Given the description of an element on the screen output the (x, y) to click on. 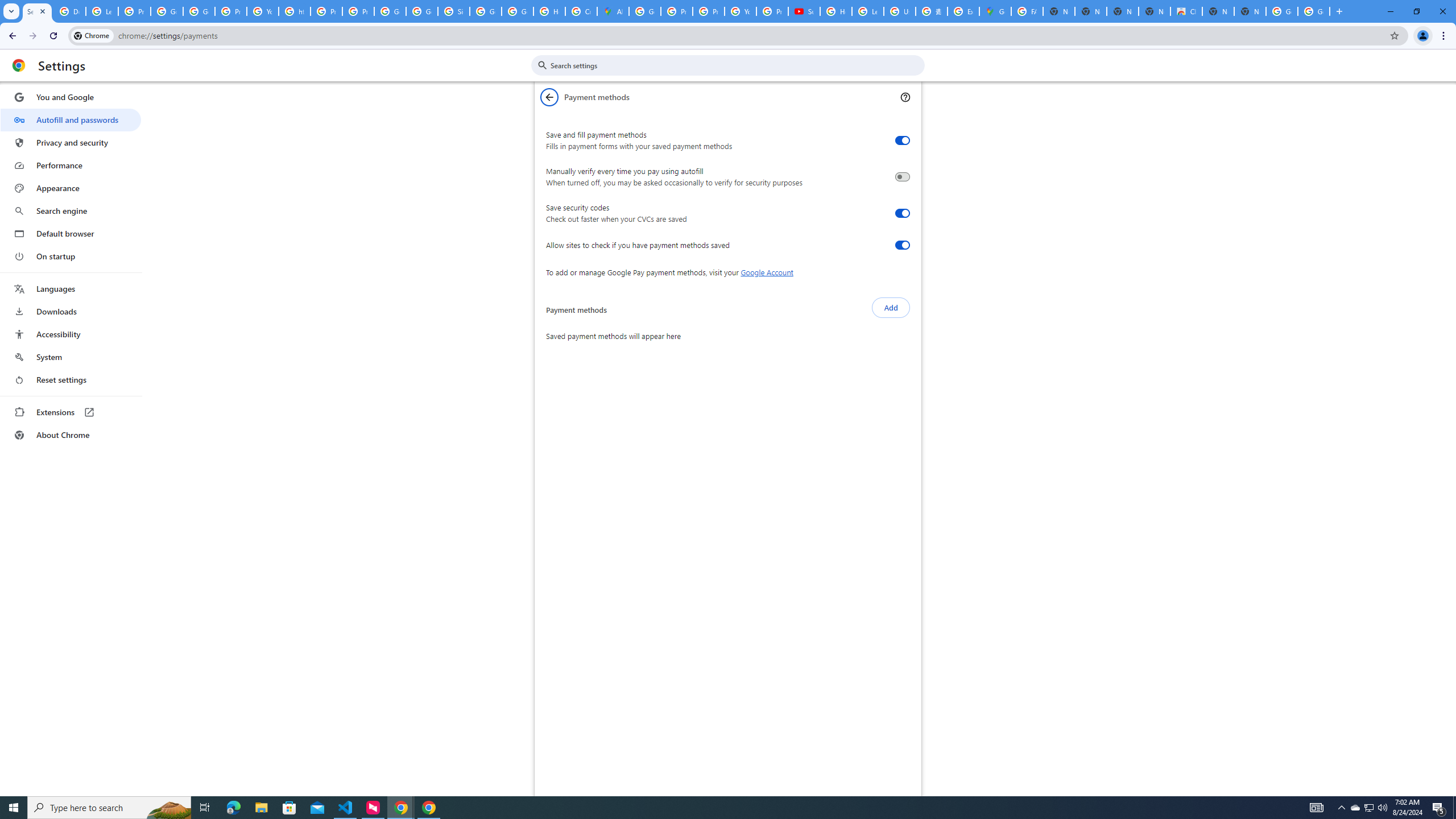
Extensions (70, 412)
Google Maps (995, 11)
Chrome Web Store (1185, 11)
Create your Google Account (581, 11)
Privacy Help Center - Policies Help (708, 11)
YouTube (262, 11)
Sign in - Google Accounts (453, 11)
Delete photos & videos - Computer - Google Photos Help (69, 11)
